Given the description of an element on the screen output the (x, y) to click on. 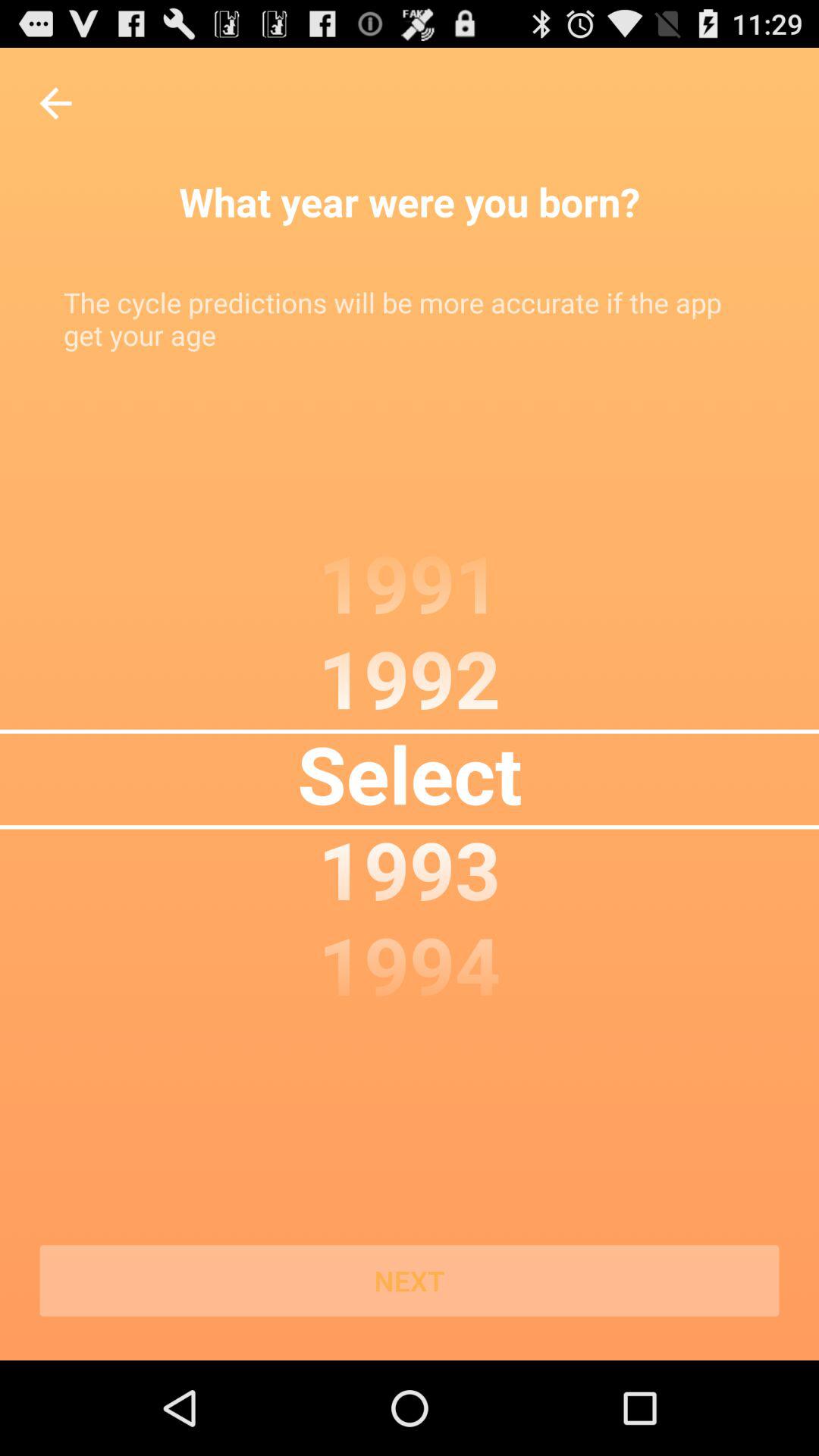
turn off icon at the bottom (409, 1280)
